Given the description of an element on the screen output the (x, y) to click on. 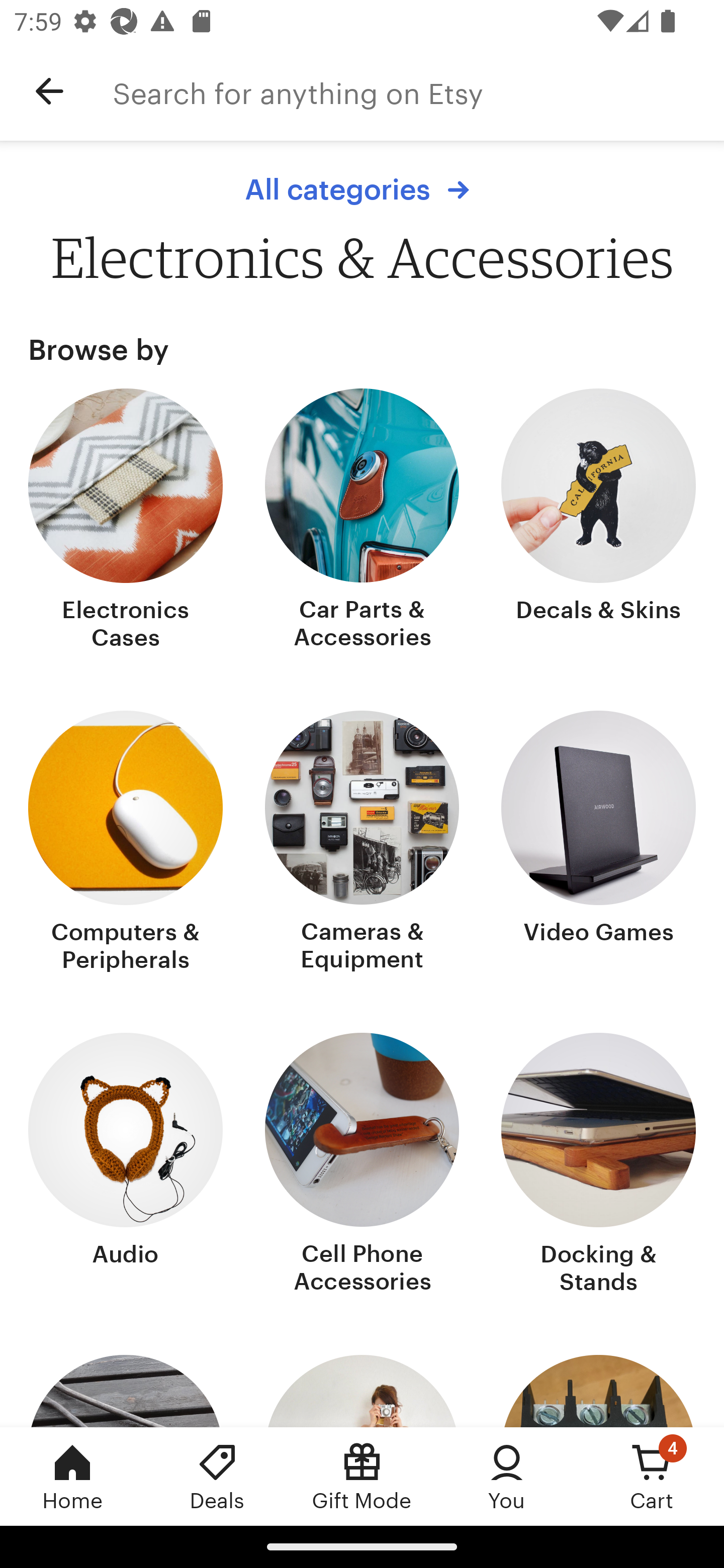
Navigate up (49, 91)
Search for anything on Etsy (418, 91)
All categories (361, 189)
Electronics Cases (125, 520)
Car Parts & Accessories (361, 520)
Decals & Skins (598, 520)
Computers & Peripherals (125, 843)
Cameras & Equipment (361, 843)
Video Games (598, 843)
Audio (125, 1165)
Cell Phone Accessories (361, 1165)
Docking & Stands (598, 1165)
Deals (216, 1475)
Gift Mode (361, 1475)
You (506, 1475)
Cart, 4 new notifications Cart (651, 1475)
